Given the description of an element on the screen output the (x, y) to click on. 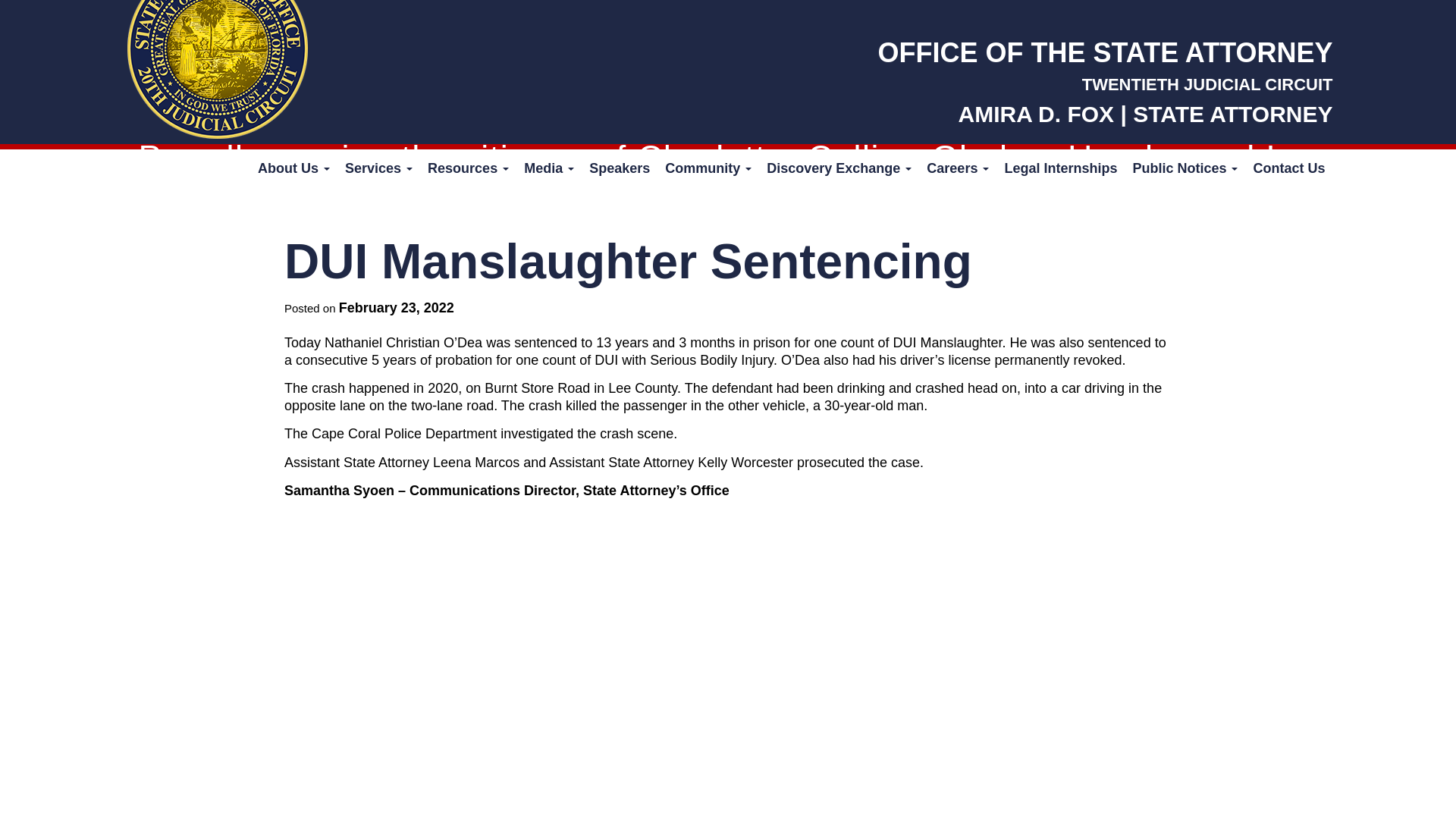
About Us (293, 168)
Resources (468, 168)
About Us (293, 168)
Services (378, 168)
Services (378, 168)
